Given the description of an element on the screen output the (x, y) to click on. 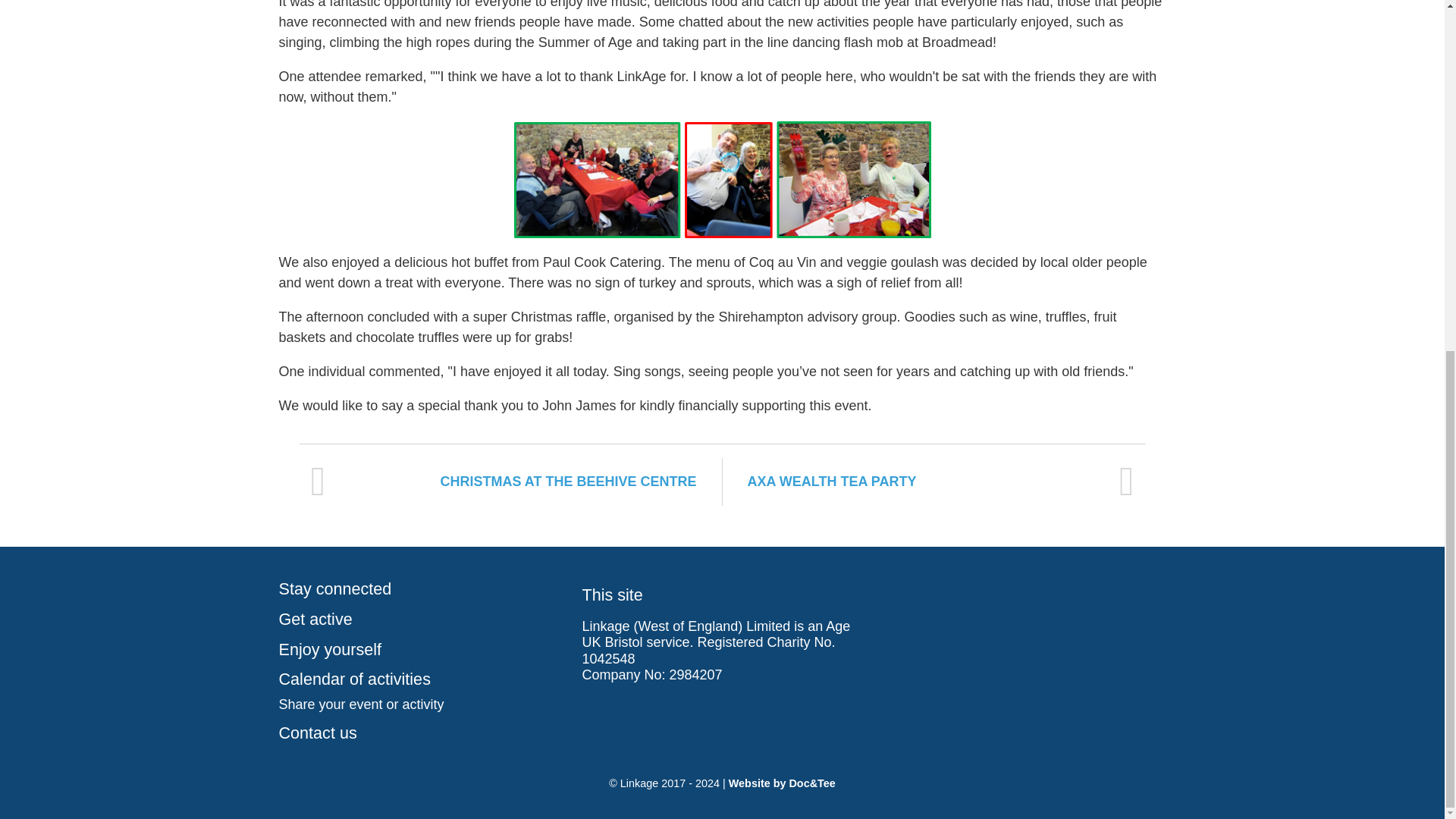
Stay connected (418, 589)
AXA WEALTH TEA PARTY (933, 481)
CHRISTMAS AT THE BEEHIVE CENTRE (510, 481)
Get active (418, 619)
Calendar of activities (418, 679)
Contact us (418, 733)
Enjoy yourself (418, 649)
Share your event or activity (418, 704)
